Given the description of an element on the screen output the (x, y) to click on. 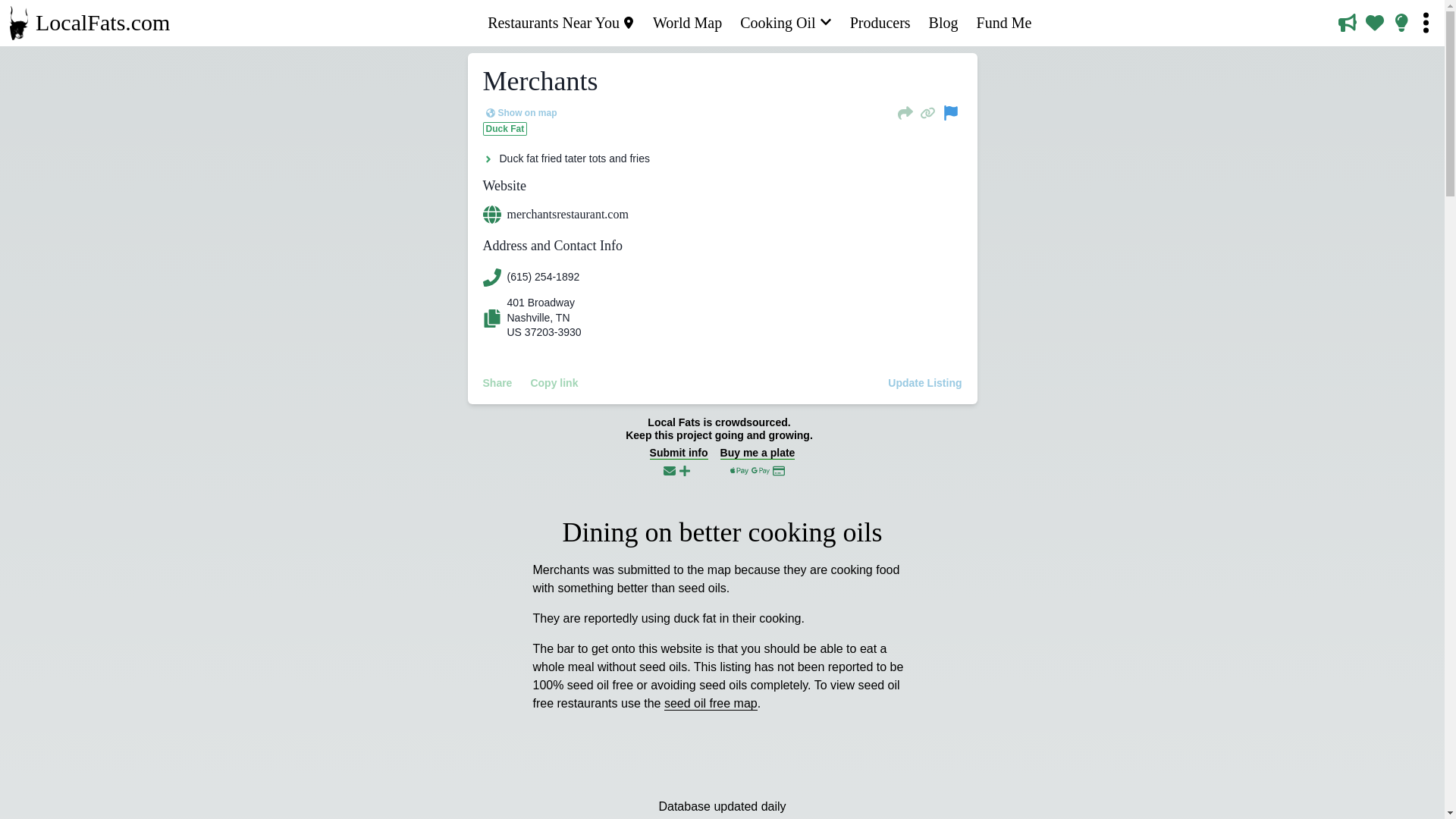
merchantsrestaurant.com (720, 214)
Submit info (678, 459)
Blog (943, 22)
World Map (687, 22)
seed oil free map (710, 703)
Update Listing (925, 382)
Cooking Oil (785, 22)
Buy me a plate (757, 461)
Copy link (553, 382)
Restaurants Near You (560, 22)
